Given the description of an element on the screen output the (x, y) to click on. 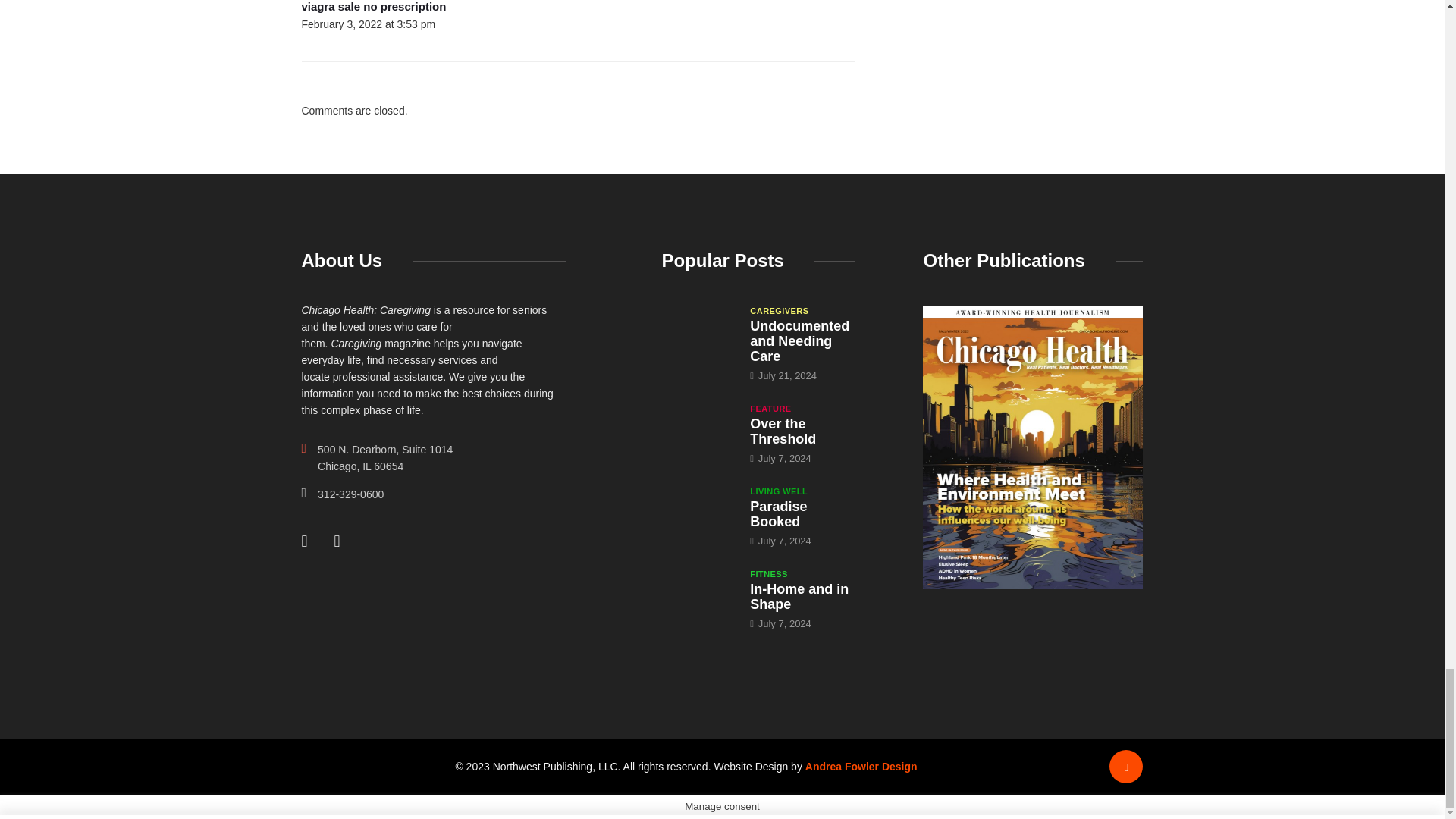
Paradise Booked (777, 513)
In-Home and in Shape (698, 594)
Paradise Booked (698, 511)
Undocumented and Needing Care (698, 331)
Undocumented and Needing Care (798, 340)
Over the Threshold (782, 431)
Over the Threshold (698, 428)
In-Home and in Shape (798, 596)
